Given the description of an element on the screen output the (x, y) to click on. 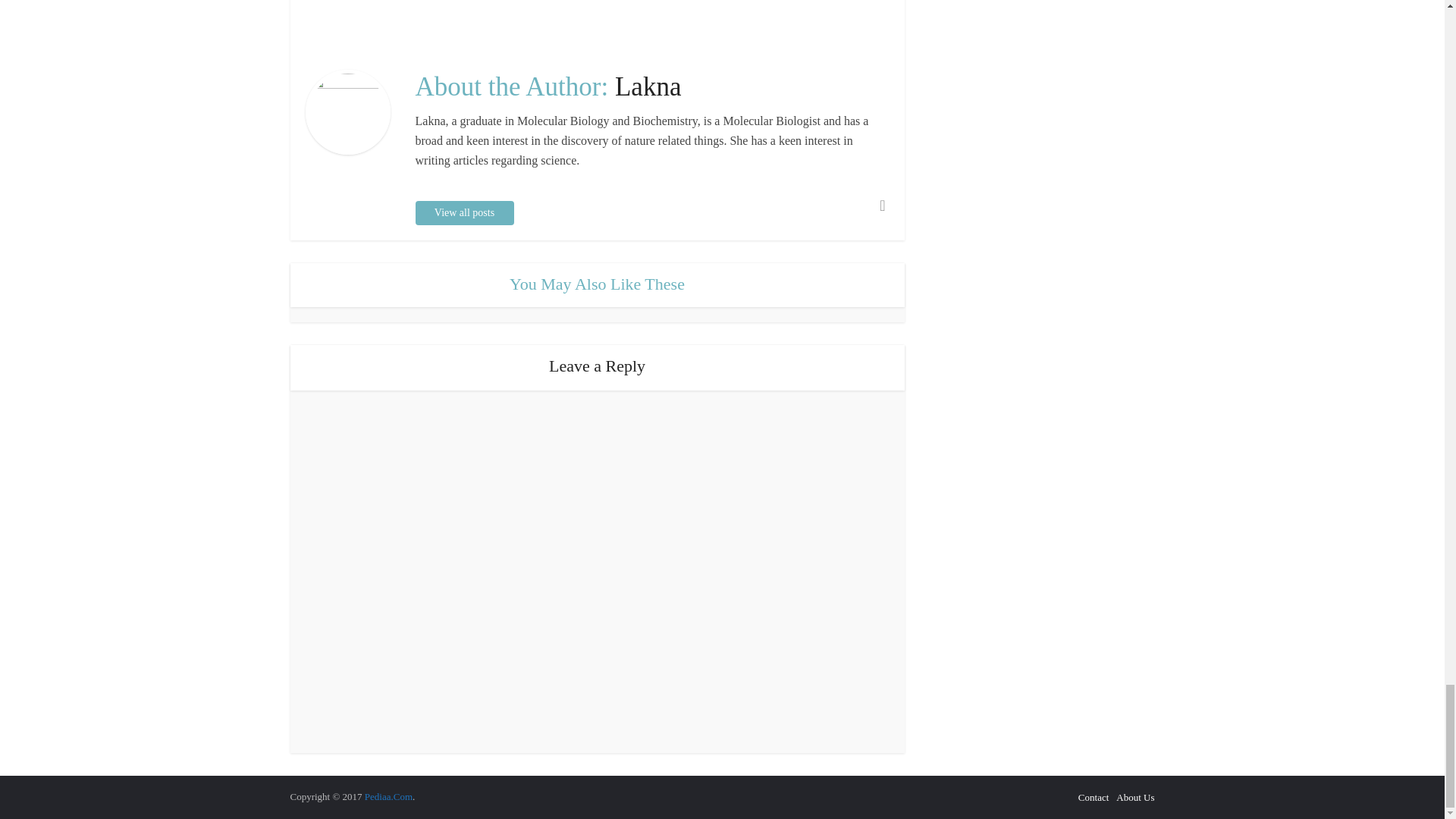
Know about Anything (388, 796)
